Given the description of an element on the screen output the (x, y) to click on. 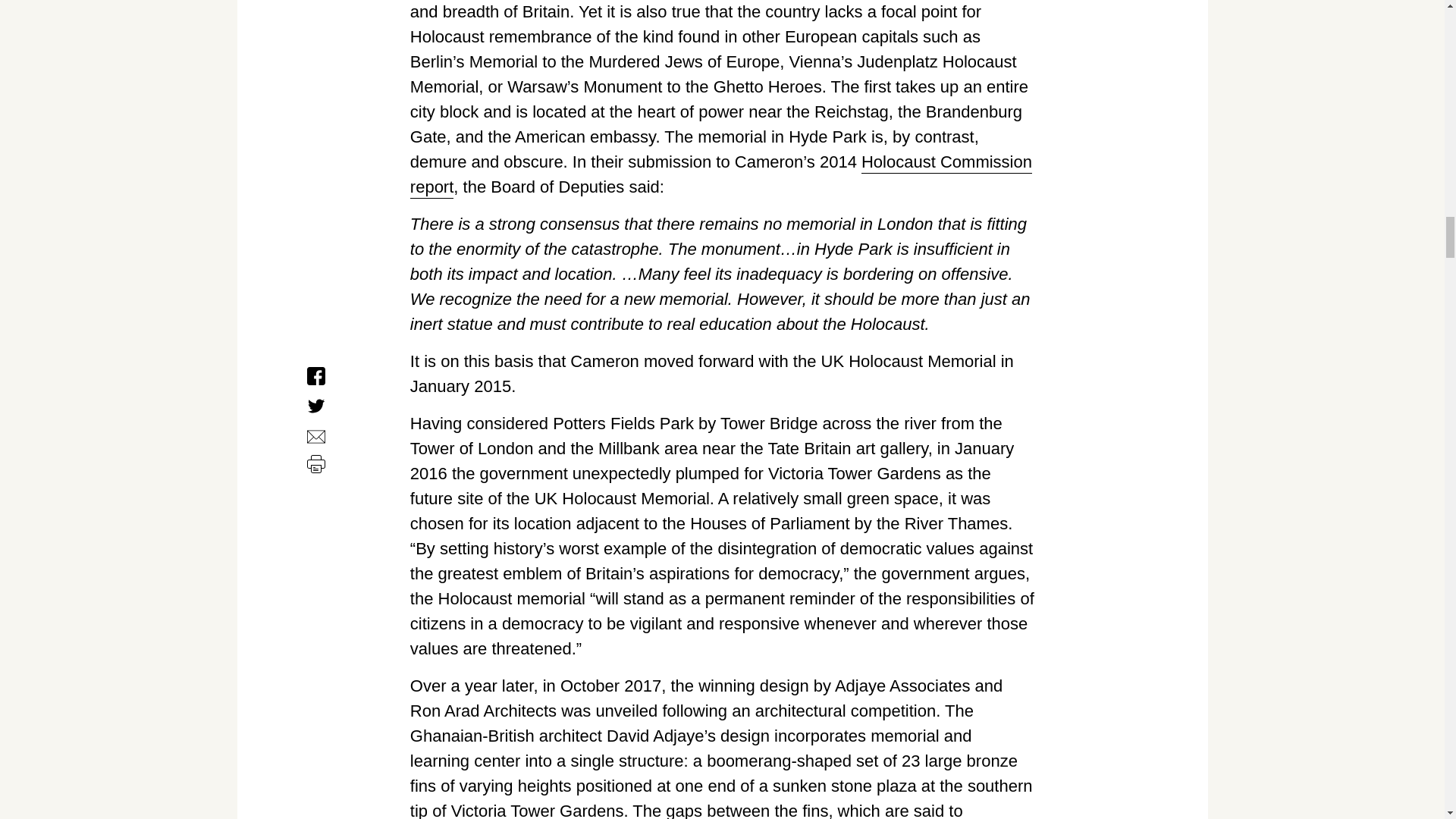
Holocaust Commission report (721, 175)
